Given the description of an element on the screen output the (x, y) to click on. 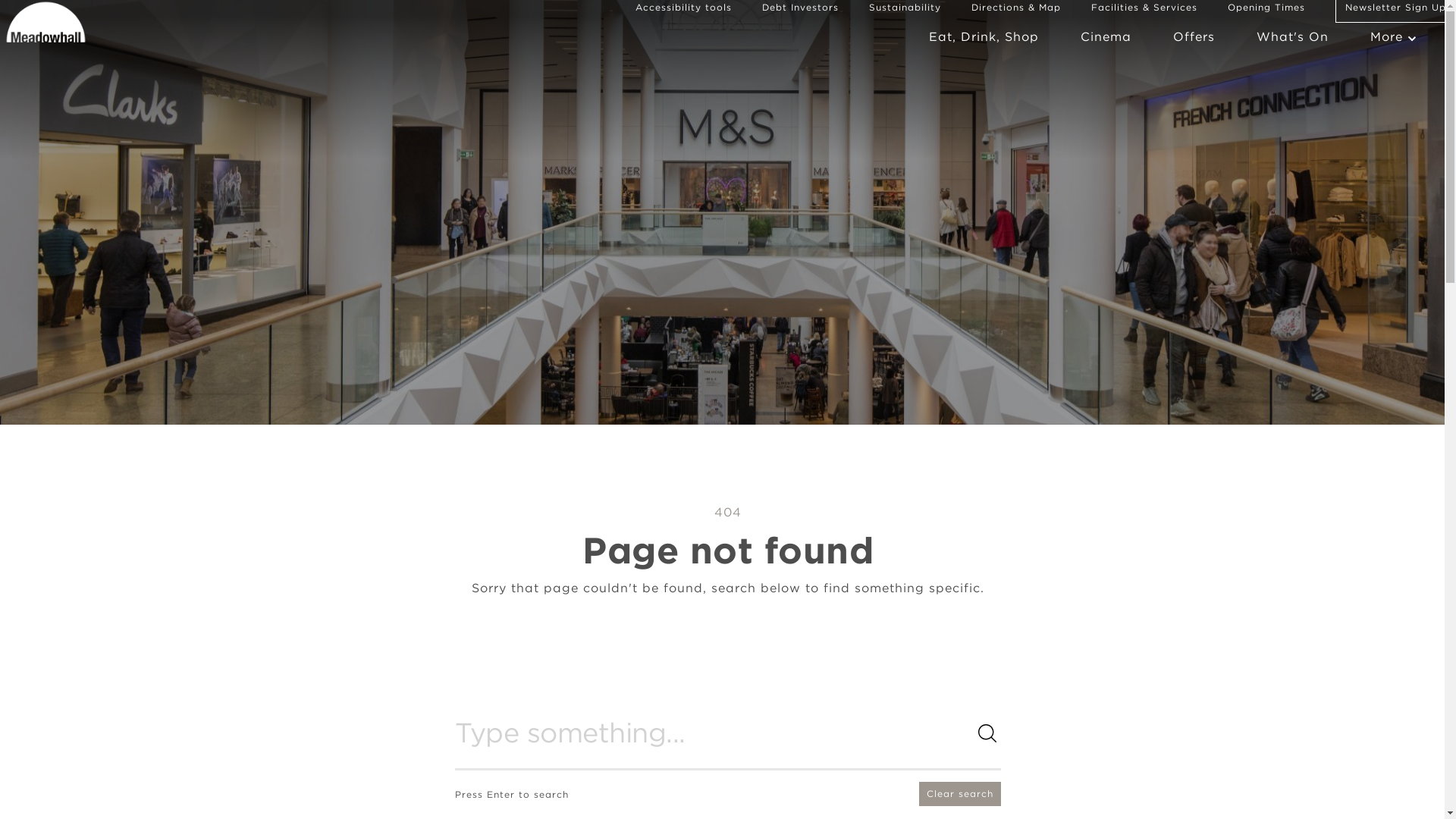
Submit (516, 734)
Recite me tool (683, 7)
